Given the description of an element on the screen output the (x, y) to click on. 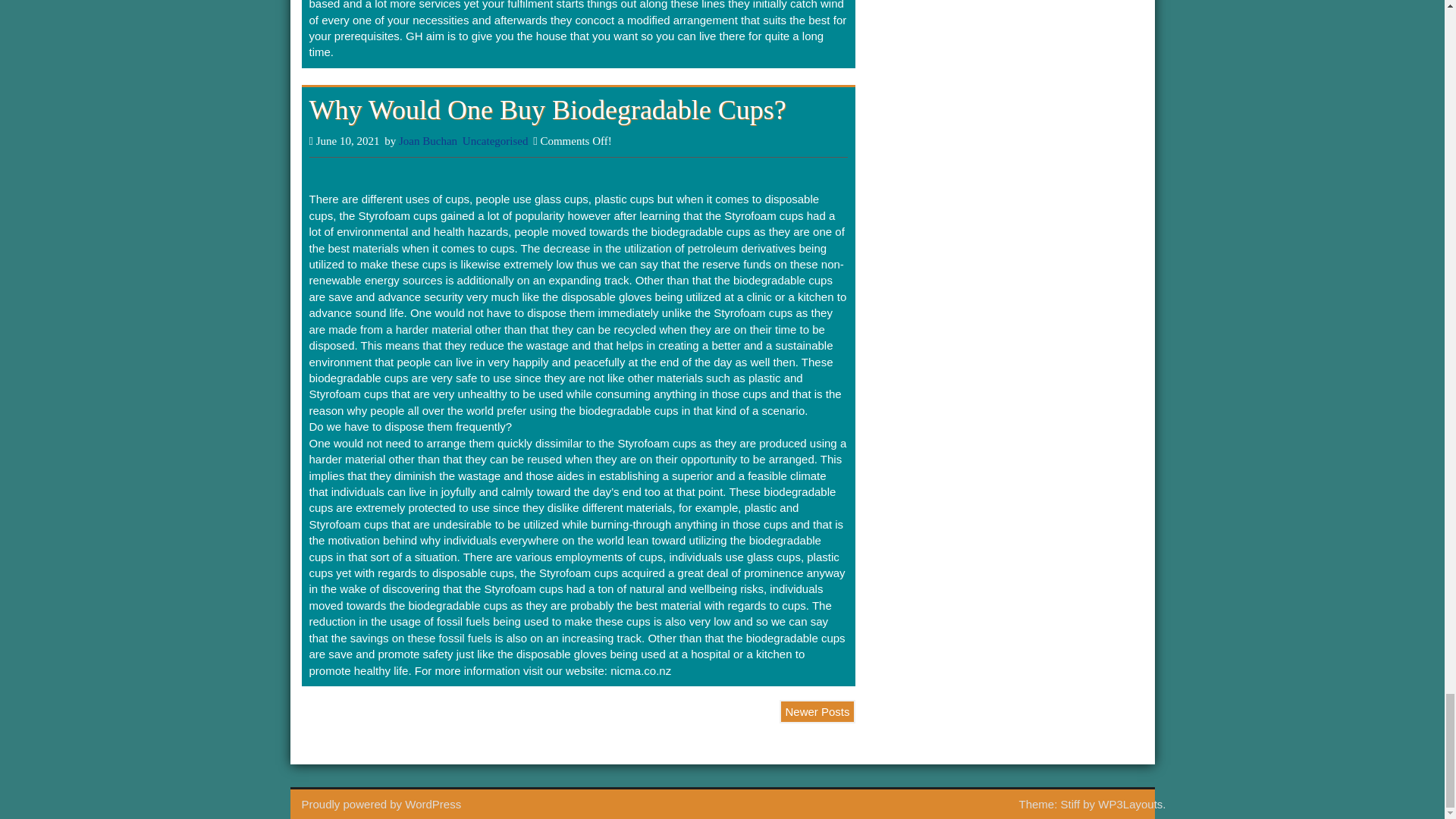
Joan Buchan (427, 141)
Uncategorised (495, 141)
Why Would One Buy Biodegradable Cups? (547, 110)
